Given the description of an element on the screen output the (x, y) to click on. 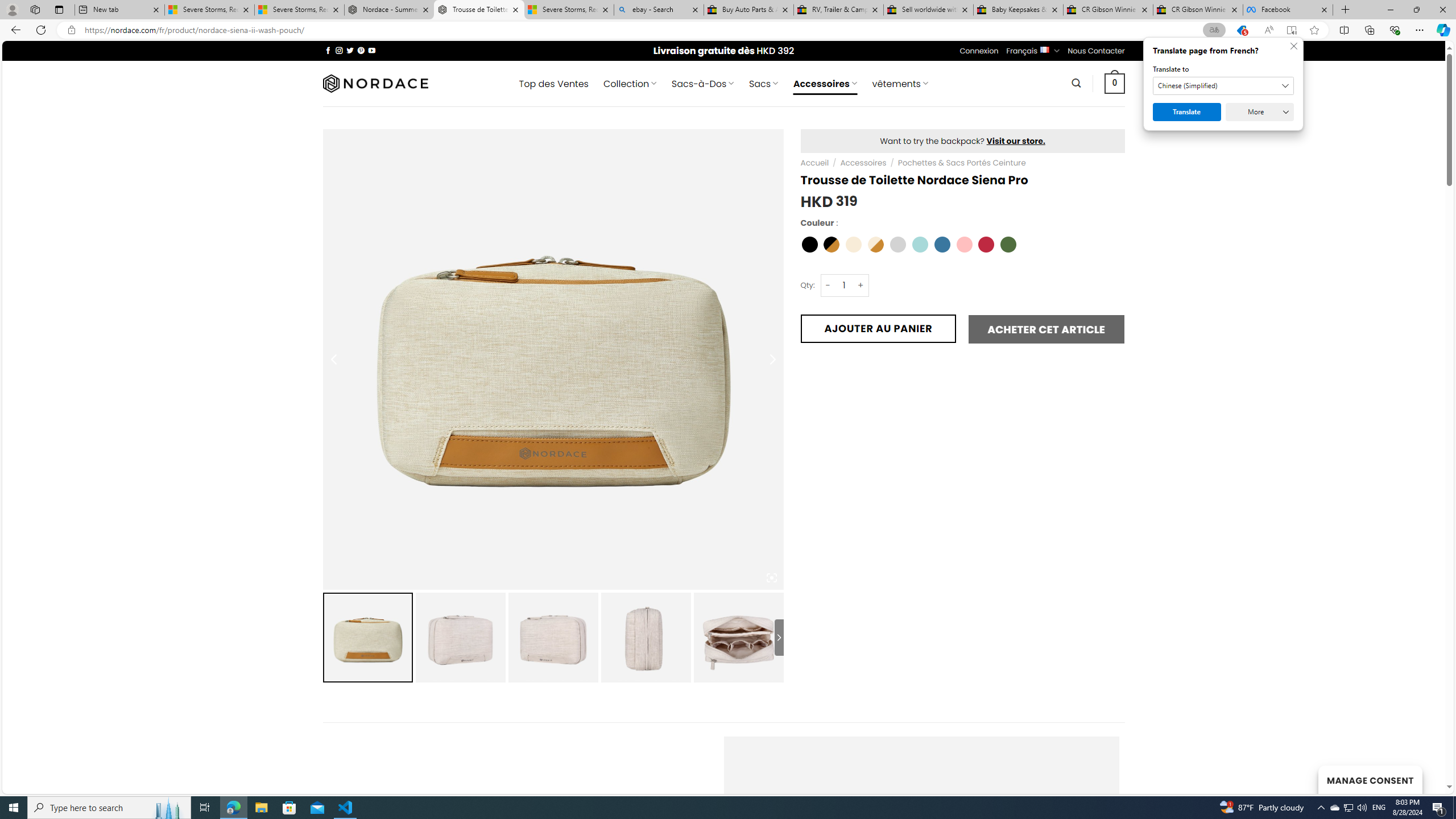
  Top des Ventes (553, 83)
ACHETER CET ARTICLE (1046, 329)
Sell worldwide with eBay (928, 9)
Nous suivre sur Twitter (349, 49)
Visit our store. (1015, 140)
Translate to (1223, 85)
Trousse de Toilette Nordace Siena Pro (738, 637)
Class: iconic-woothumbs-fullscreen (771, 577)
